Given the description of an element on the screen output the (x, y) to click on. 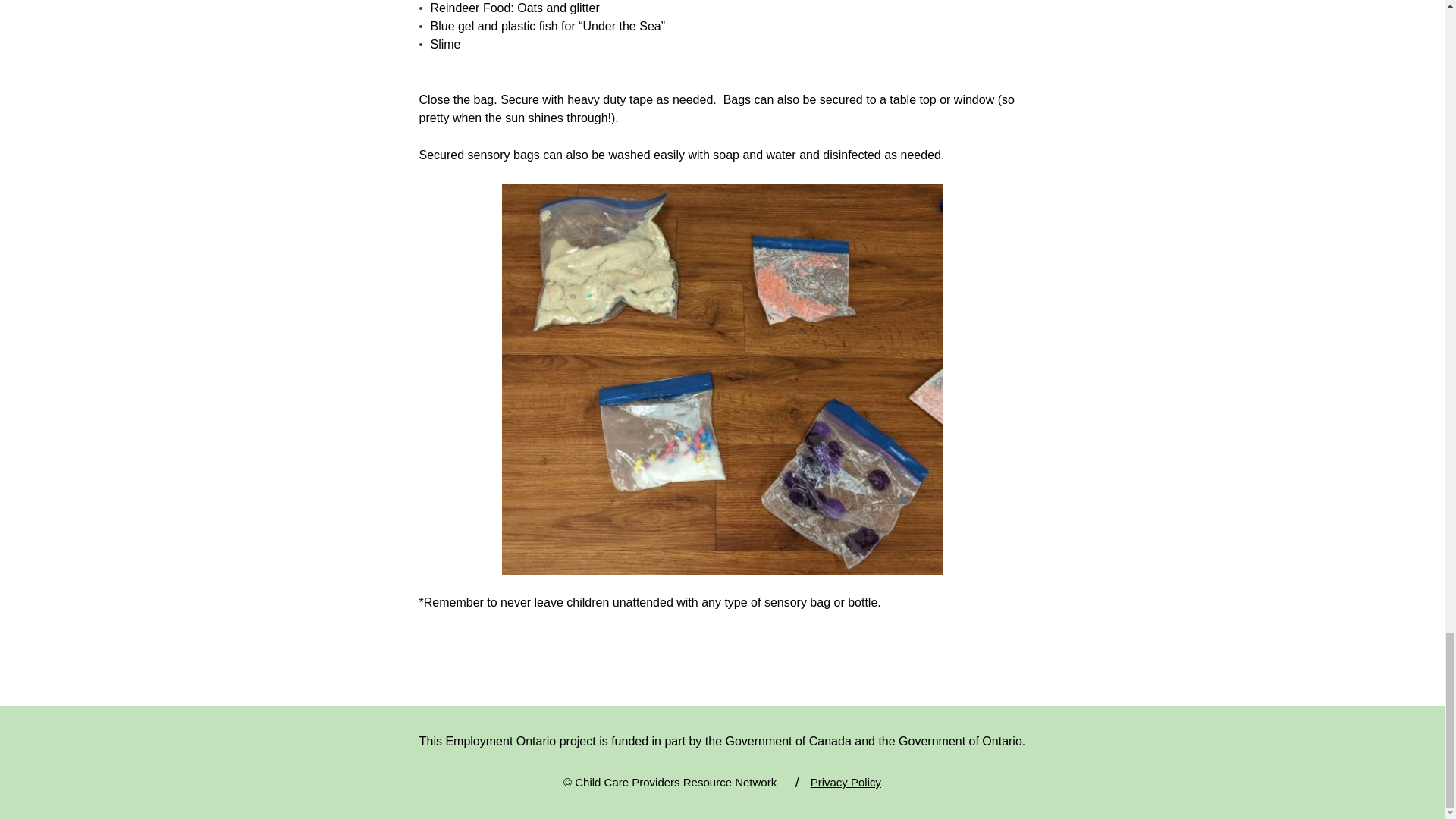
Privacy Policy (845, 781)
